Given the description of an element on the screen output the (x, y) to click on. 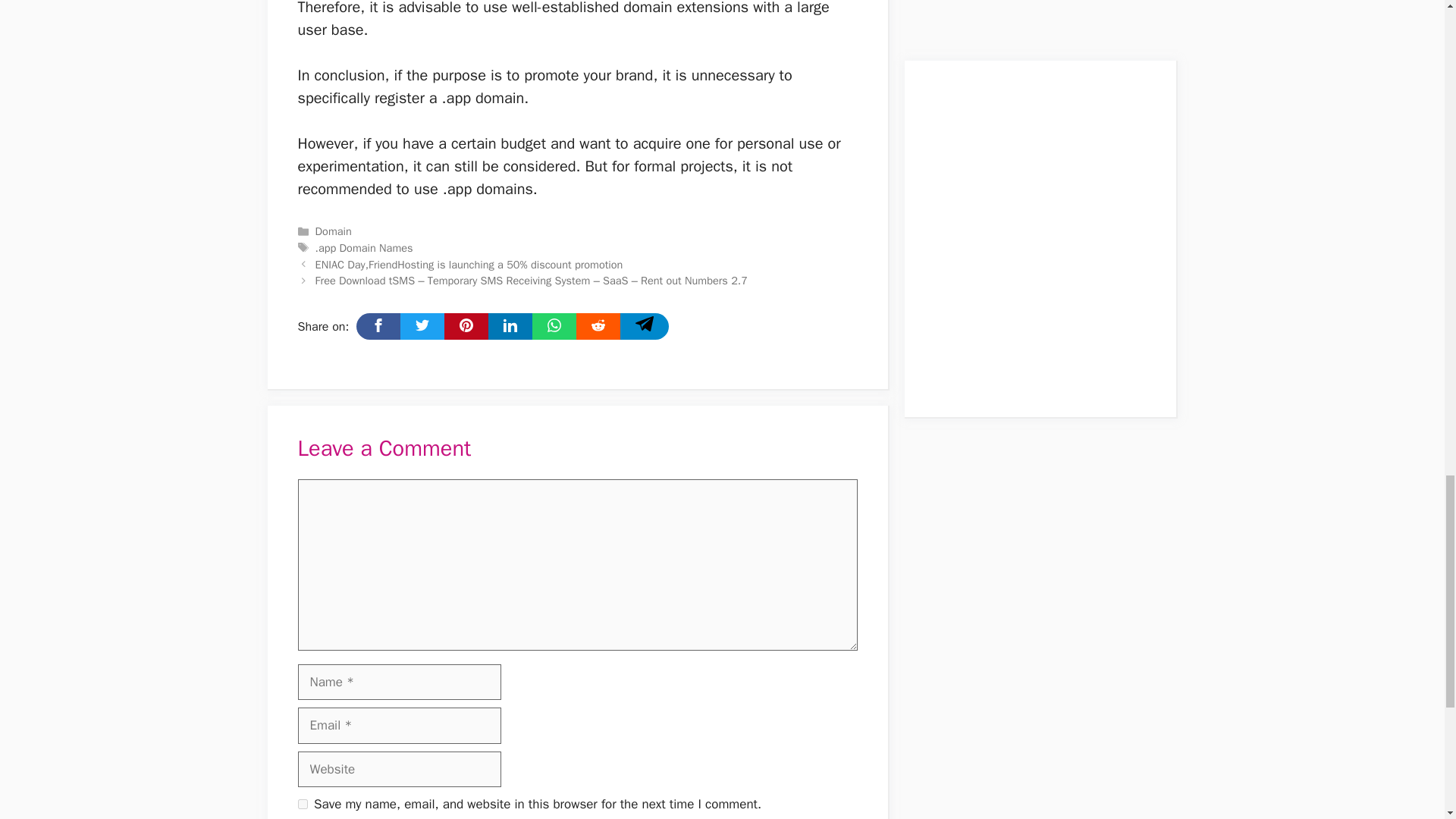
yes (302, 804)
Domain (333, 231)
.app Domain Names (364, 247)
